Given the description of an element on the screen output the (x, y) to click on. 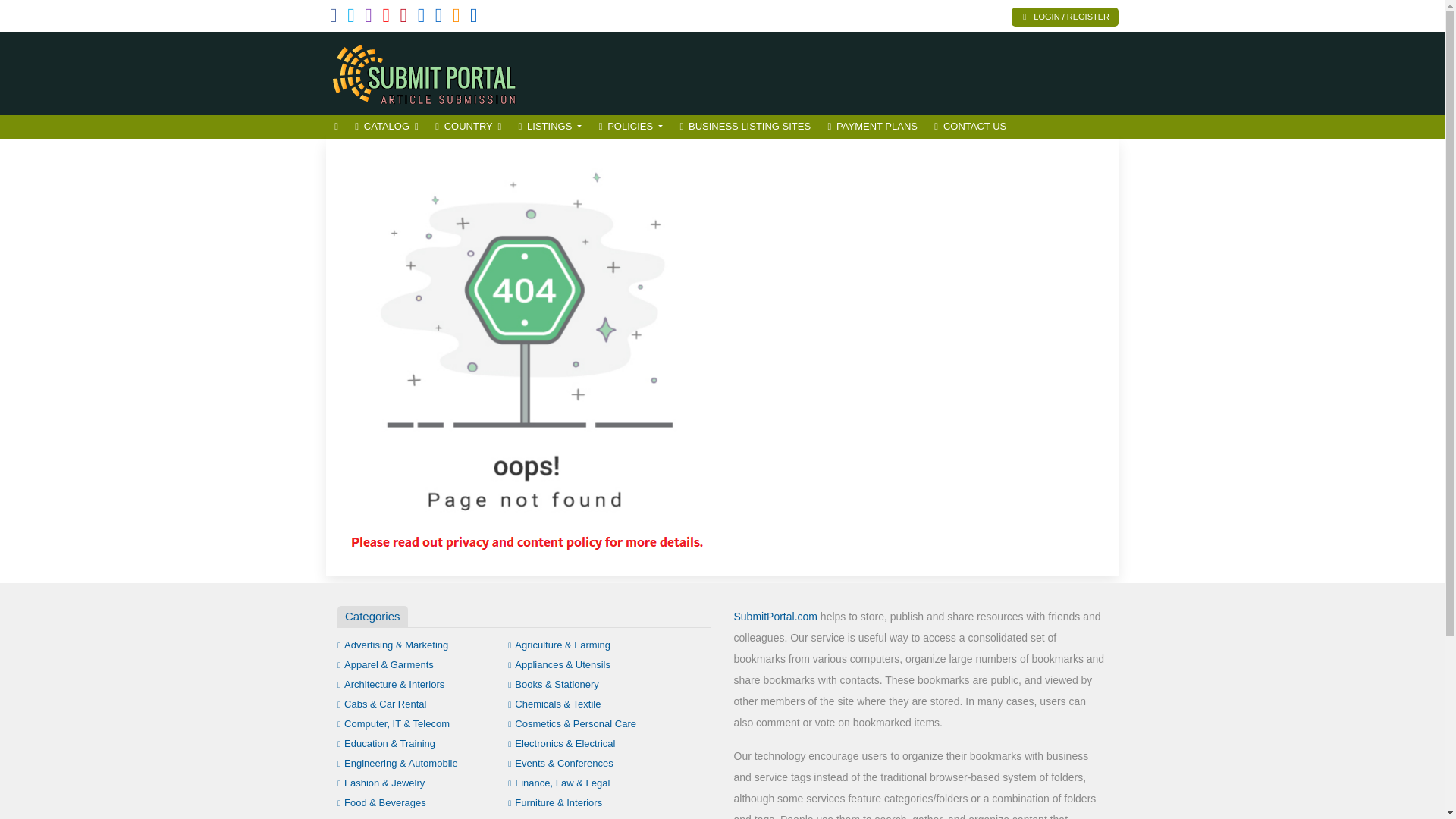
Linked In (473, 18)
Instagram (368, 18)
Medium (438, 18)
Facebook (333, 18)
CATALOG (386, 126)
HOME (336, 126)
Twitter (351, 18)
Pinterest (403, 18)
RSS Feed (456, 18)
Free Classified Submission and Directory Listing for SEO (428, 71)
YouTube (385, 18)
Tumblr (421, 18)
